Given the description of an element on the screen output the (x, y) to click on. 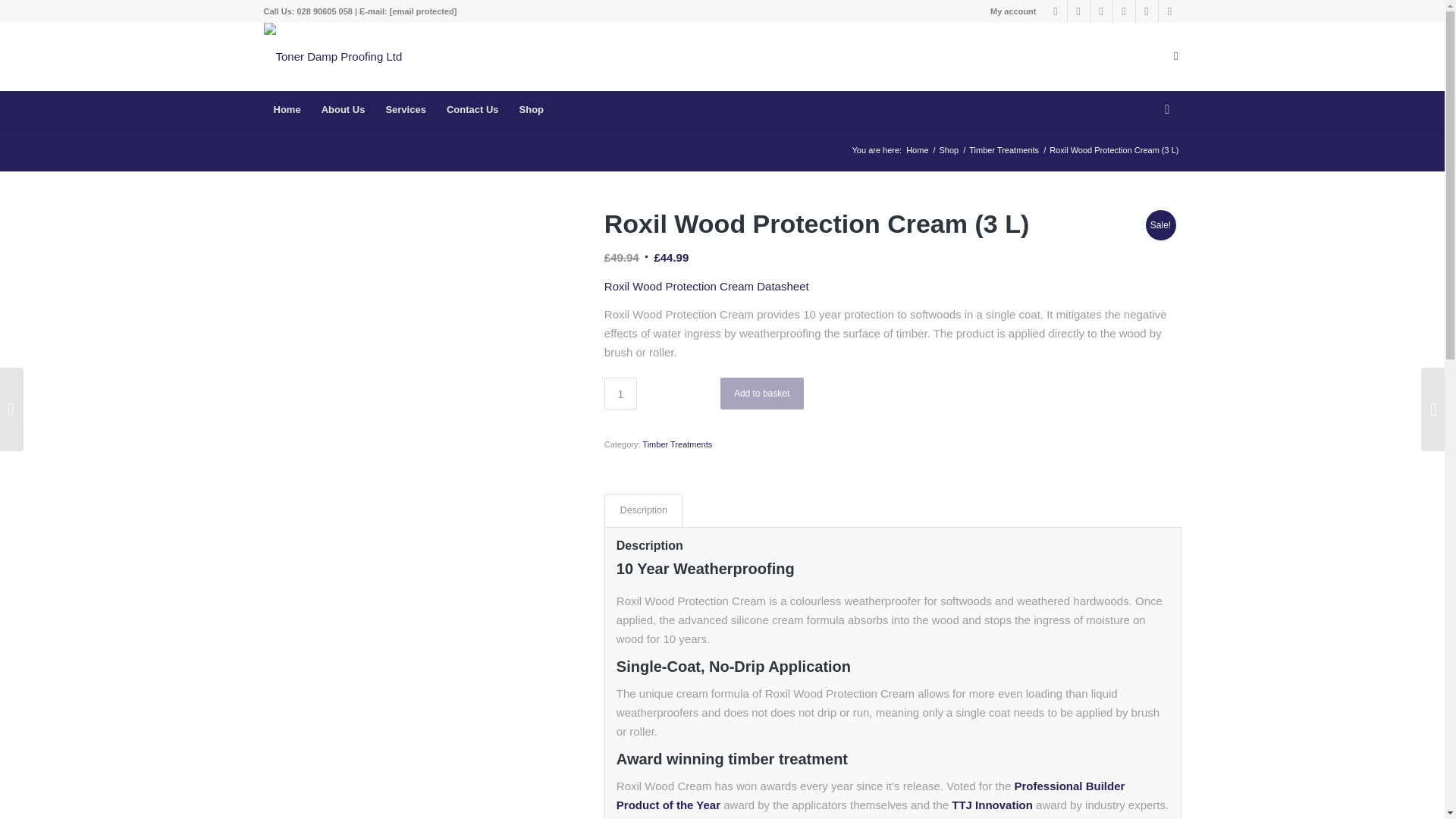
Youtube (1146, 11)
X (1124, 11)
Timber Treatments (1003, 150)
Shop (948, 150)
Timber Treatments (676, 443)
logo profile (333, 45)
Add to basket (761, 393)
My account (1013, 11)
Toner Damp Proofing Ltd (917, 150)
Roxil Wood Protection Cream Datasheet (706, 286)
About Us (343, 109)
Shop (948, 150)
Home (917, 150)
logo profile (333, 56)
Description (643, 510)
